Given the description of an element on the screen output the (x, y) to click on. 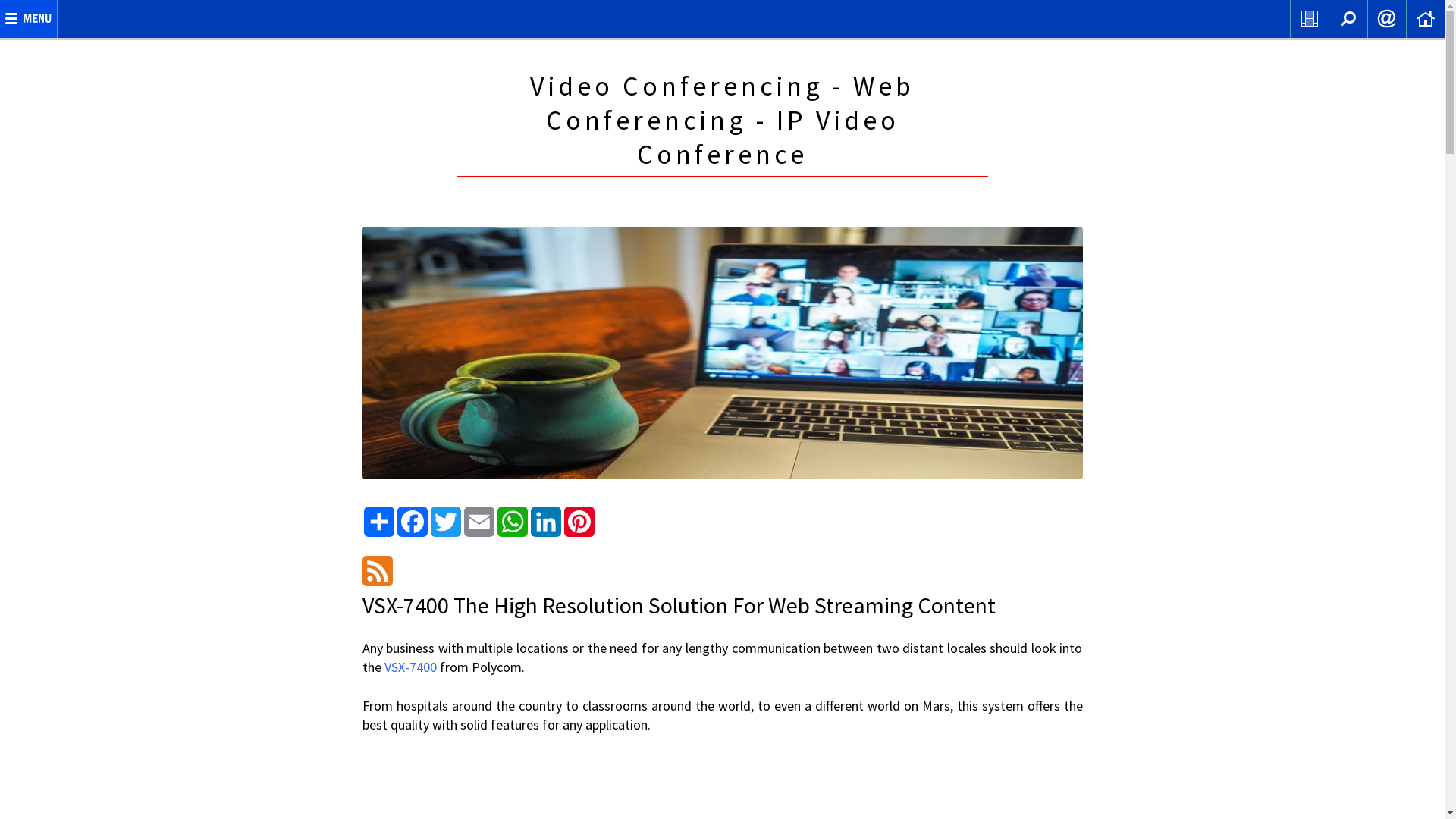
Share Element type: text (378, 521)
RSS Feed Element type: hover (377, 570)
WhatsApp Element type: text (512, 521)
Home Element type: hover (1425, 18)
Video Element type: hover (1309, 18)
Pinterest Element type: text (579, 521)
Email Element type: text (478, 521)
Twitter Element type: text (445, 521)
Facebook Element type: text (412, 521)
Search Element type: hover (1347, 18)
LinkedIn Element type: text (545, 521)
Video Conferencing - Web Conferencing - IP Video Conference Element type: text (722, 120)
VSX-7400 Element type: text (409, 666)
Video Conferencing - VSX-7400 Element type: hover (722, 352)
Contact Element type: hover (1386, 18)
